Given the description of an element on the screen output the (x, y) to click on. 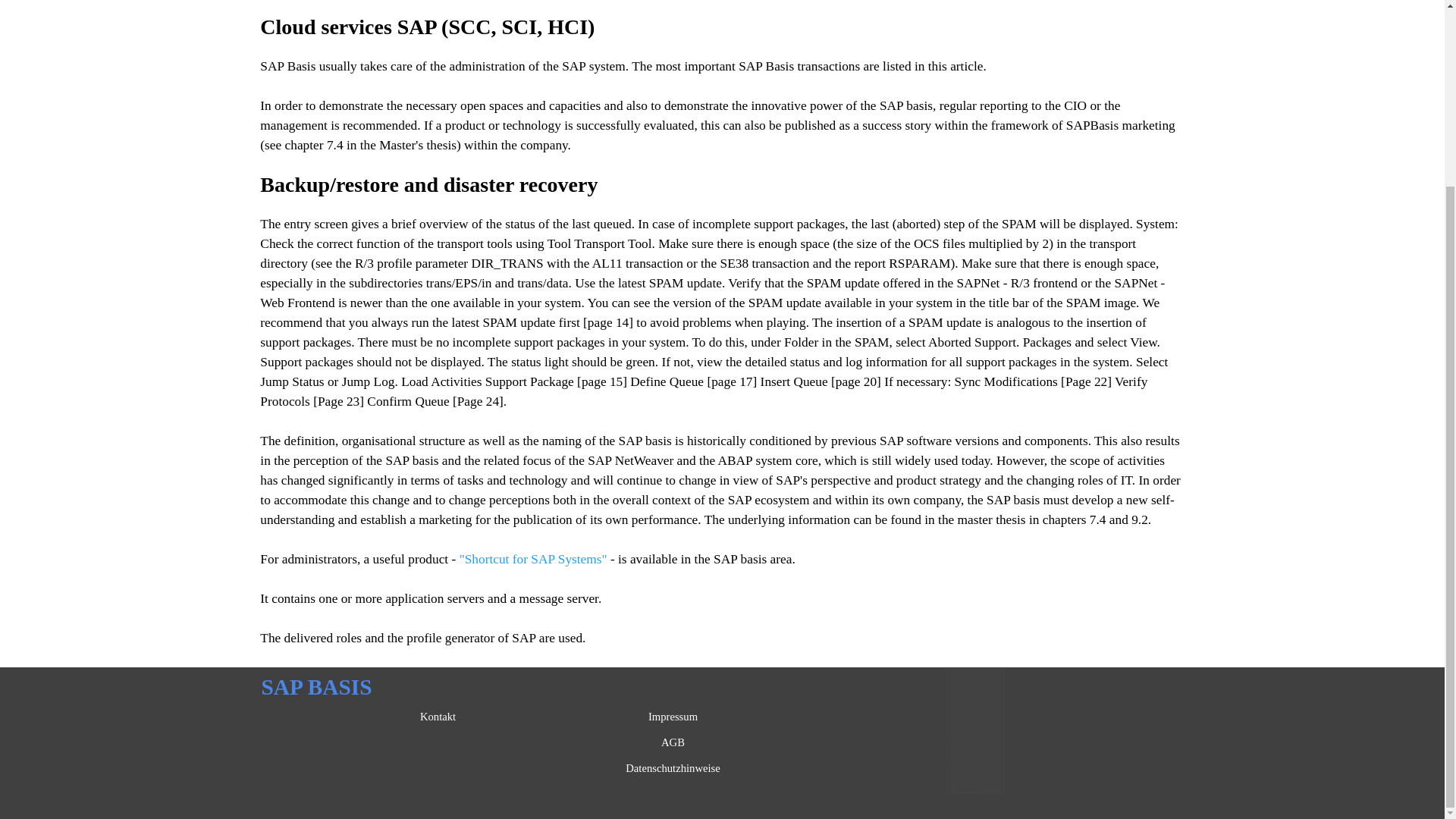
Datenschutzhinweise (672, 767)
Impressum (672, 716)
"Shortcut for SAP Systems" (533, 559)
Mirrors (968, 787)
Kontakt (438, 716)
AGB (672, 742)
